Given the description of an element on the screen output the (x, y) to click on. 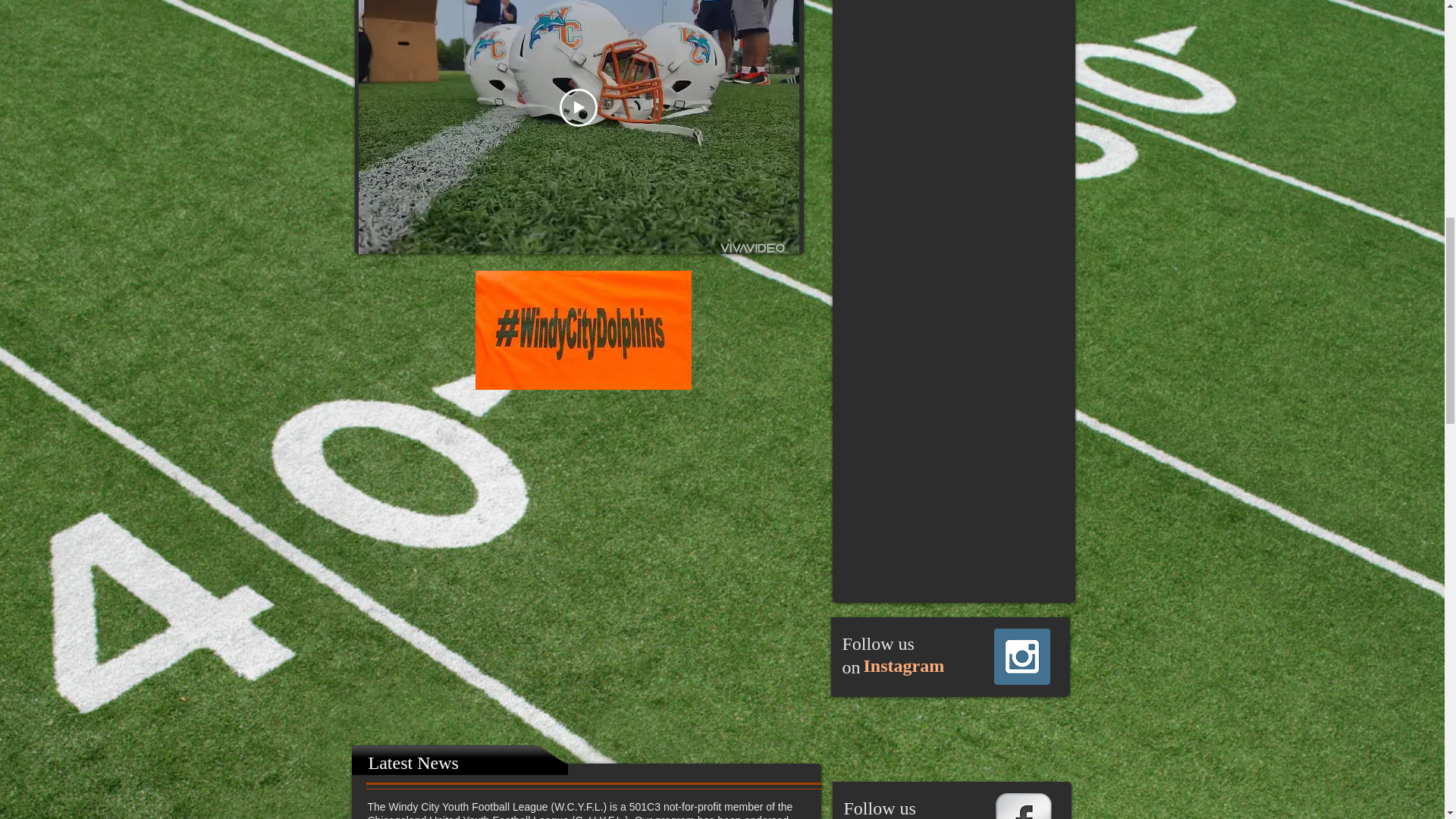
External YouTube (591, 548)
Instagram (903, 665)
Follow us (877, 643)
on (850, 667)
Follow us (879, 811)
